Given the description of an element on the screen output the (x, y) to click on. 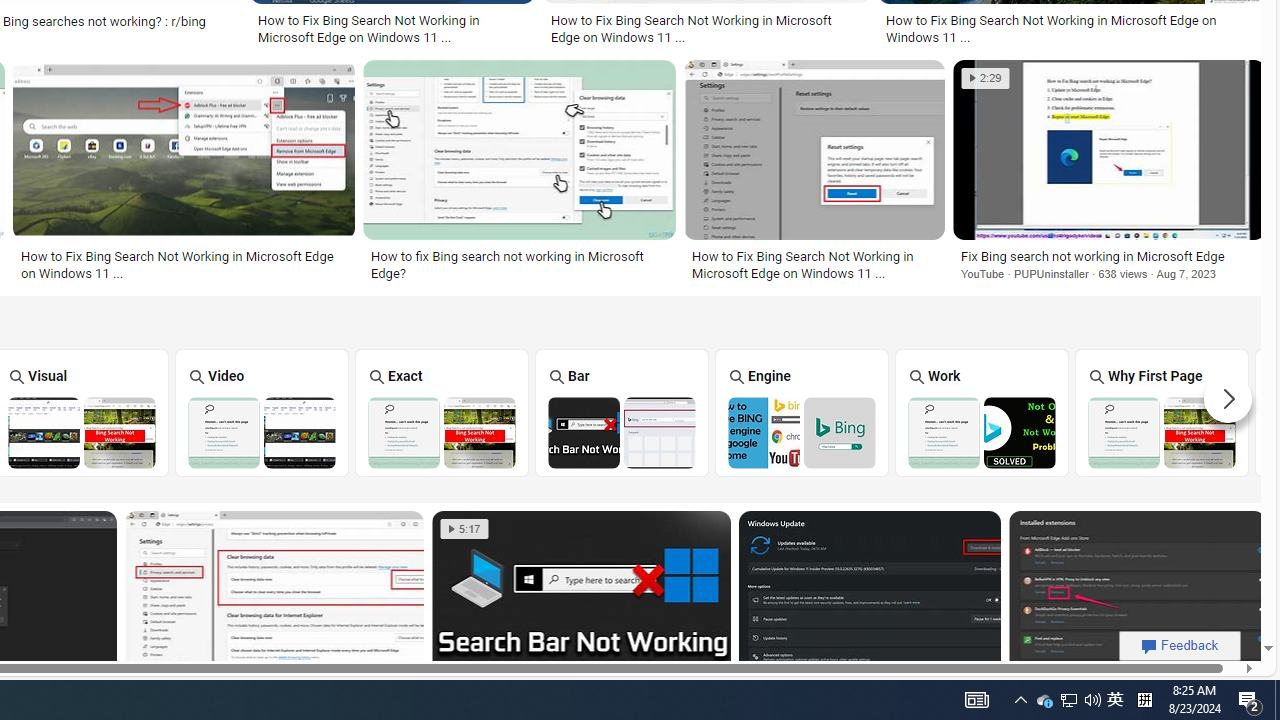
Image result for Bing Search Not Working (1136, 600)
Bing Exact Search Not Working (441, 432)
Bing Video Search Not Working Video (262, 412)
2:29 (985, 78)
How to fix Bing search not working in Microsoft Edge?Save (523, 173)
Bing Video Search Not Working (262, 432)
Why First Page (1162, 412)
Bing Search Engine Not Working Engine (801, 412)
Video (262, 412)
How to fix Bing search not working in Microsoft Edge? (519, 264)
Bing Search Engine Not Working (802, 432)
Bing Work Search Not Working Work (981, 412)
